Given the description of an element on the screen output the (x, y) to click on. 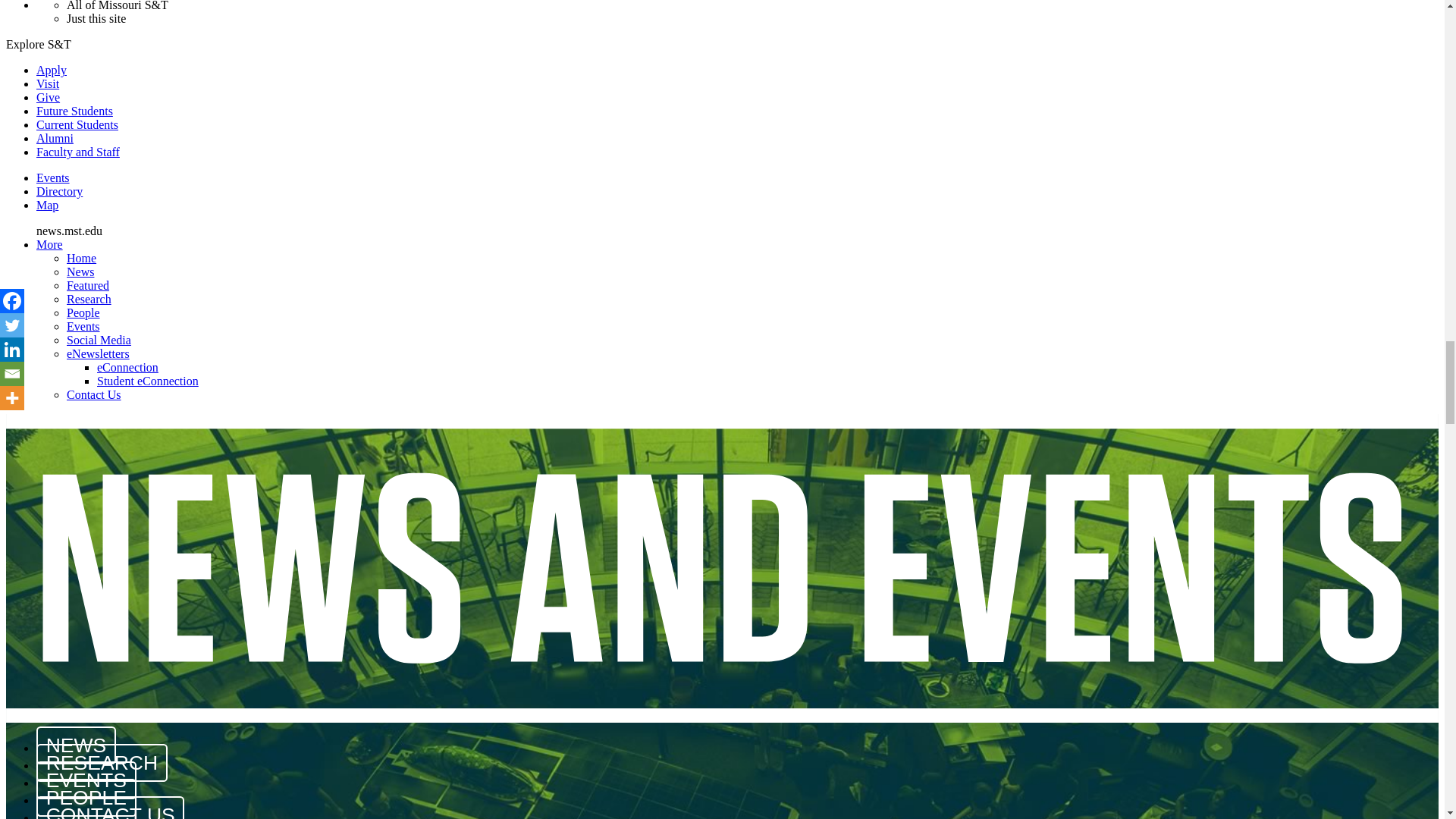
People (83, 312)
More (49, 244)
NEWS (76, 745)
Contact Us (93, 394)
Featured (87, 285)
eConnection (127, 367)
Research (89, 298)
Faculty and Staff (77, 151)
Home (81, 257)
Future Students (74, 110)
Student eConnection (147, 380)
Alumni (55, 137)
Give (47, 97)
Apply (51, 69)
Just this site (95, 18)
